Given the description of an element on the screen output the (x, y) to click on. 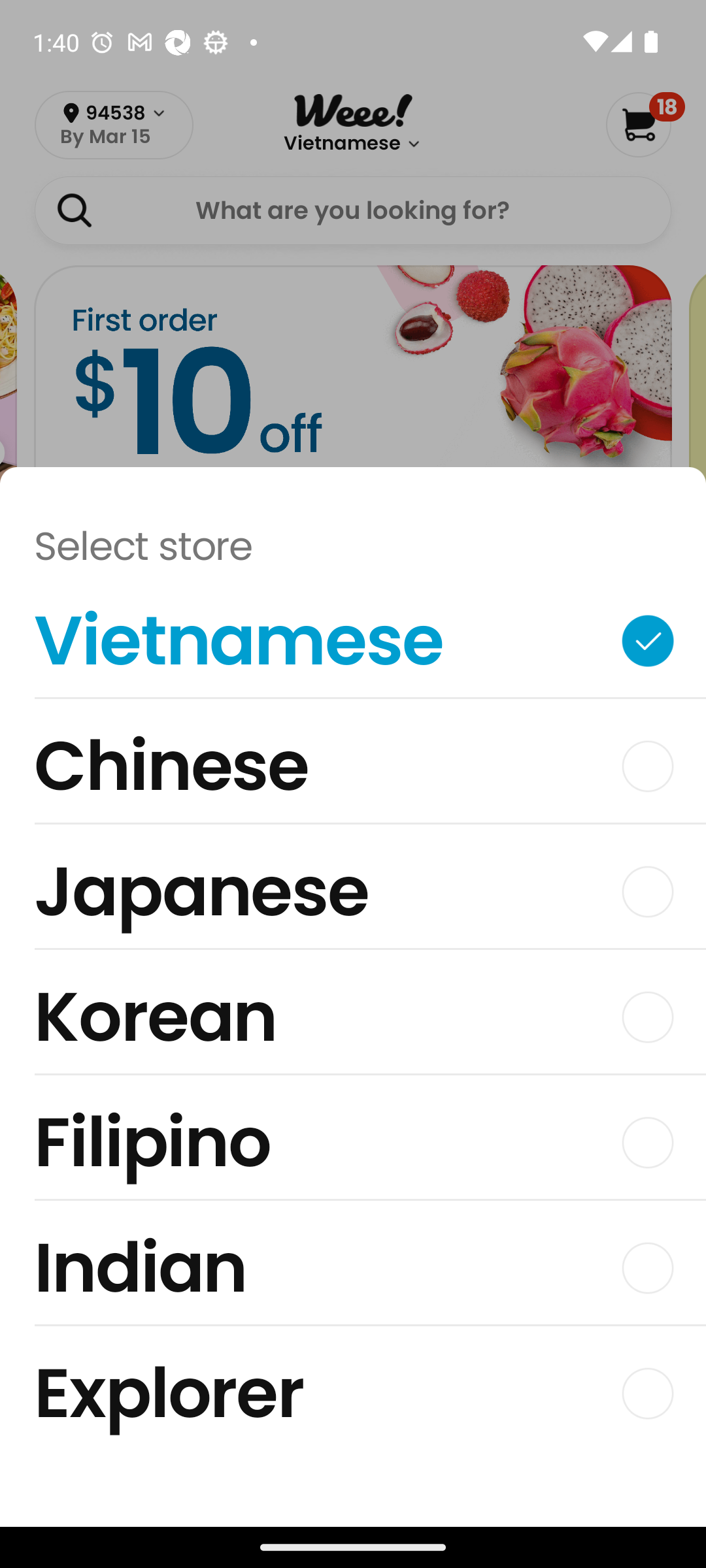
Vietnamese (353, 645)
Chinese (353, 771)
Japanese (353, 896)
Korean (353, 1022)
Filipino (353, 1147)
Indian (353, 1272)
Explorer (353, 1392)
